Given the description of an element on the screen output the (x, y) to click on. 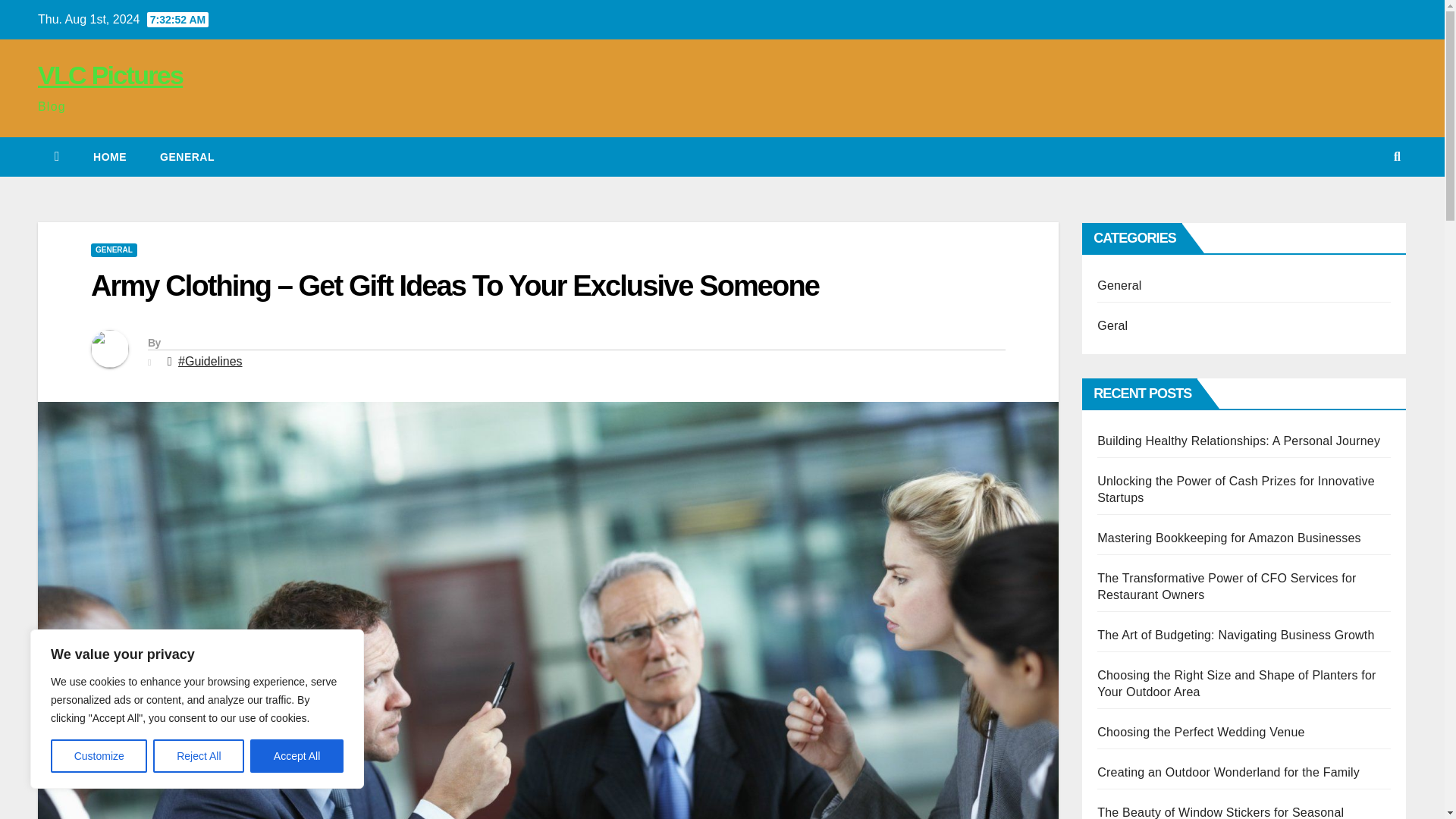
Home (109, 156)
Accept All (296, 756)
GENERAL (113, 250)
GENERAL (186, 156)
General (186, 156)
Reject All (198, 756)
HOME (109, 156)
Customize (98, 756)
VLC Pictures (110, 74)
